Given the description of an element on the screen output the (x, y) to click on. 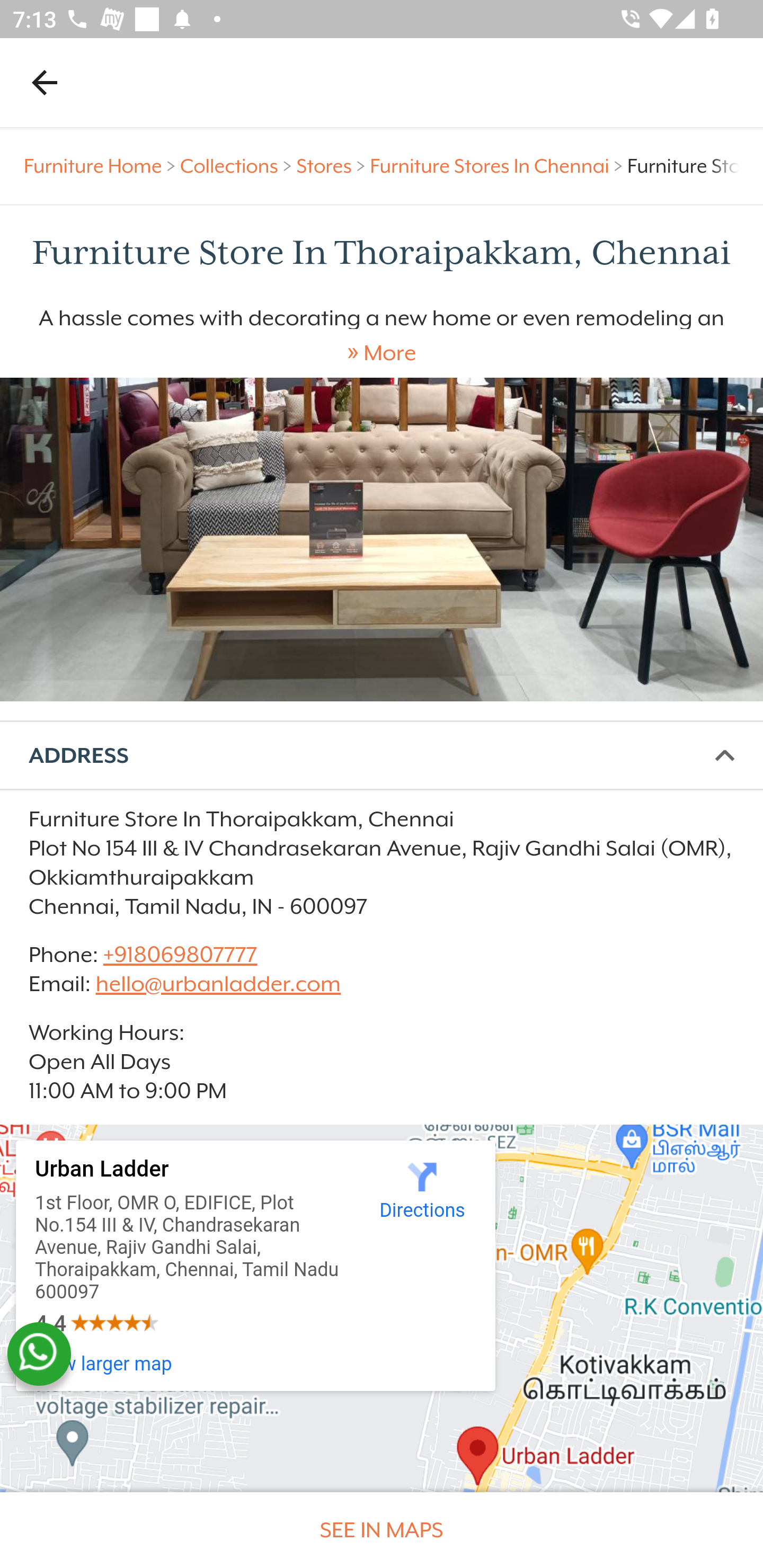
Navigate up (44, 82)
Furniture Home >  Furniture Home  >  (102, 165)
Collections >  Collections  >  (238, 165)
Stores >  Stores  >  (333, 165)
» More (381, 353)
Experience Centre (381, 539)
ADDRESS (381, 756)
+918069807777 (179, 953)
hello@urbanladder.com (218, 983)
whatsapp (38, 1353)
View larger map (104, 1363)
SEE IN MAPS (381, 1530)
